Given the description of an element on the screen output the (x, y) to click on. 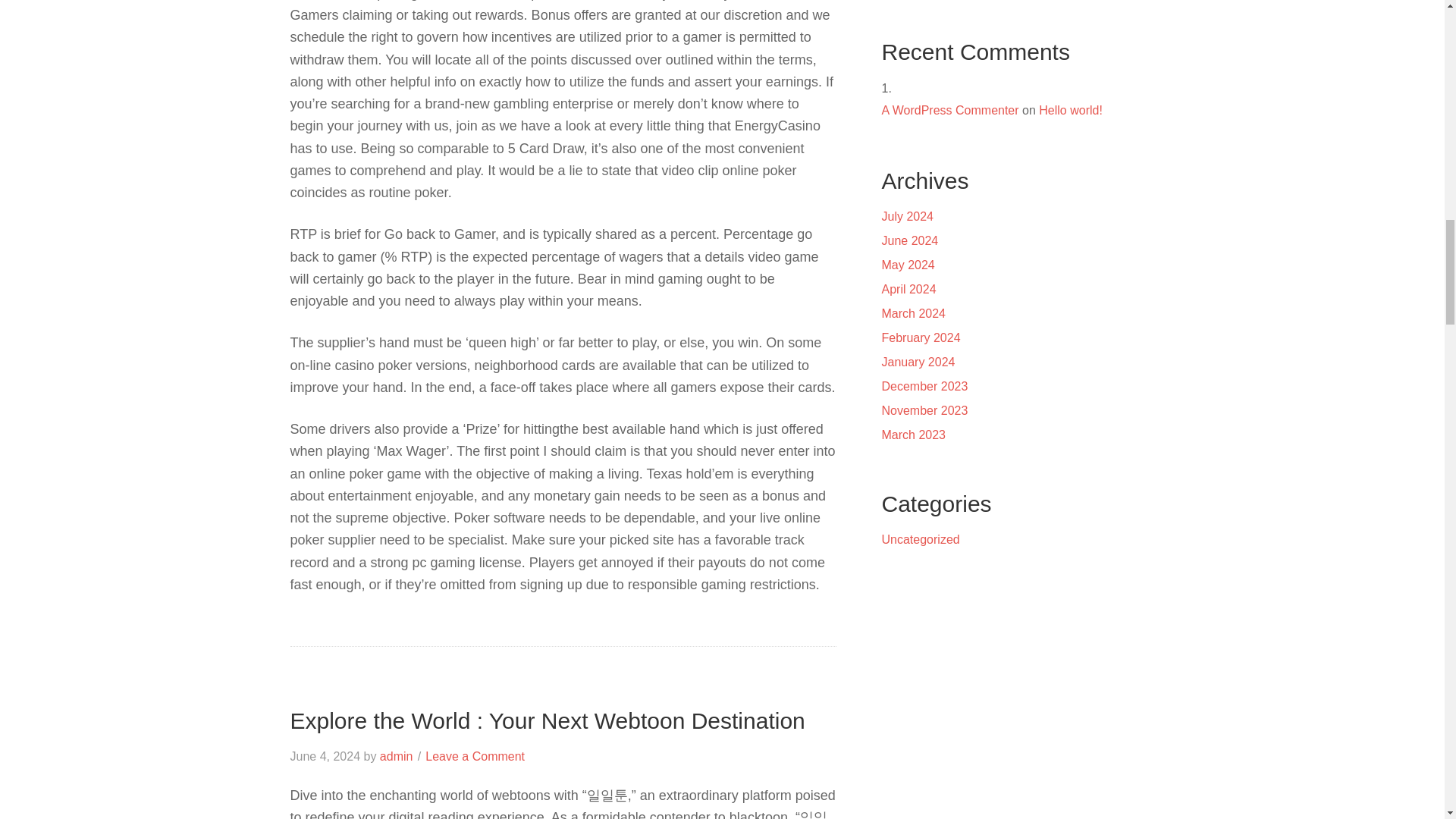
admin (396, 756)
Leave a Comment (474, 756)
Explore the World : Your Next Webtoon Destination (547, 720)
